Given the description of an element on the screen output the (x, y) to click on. 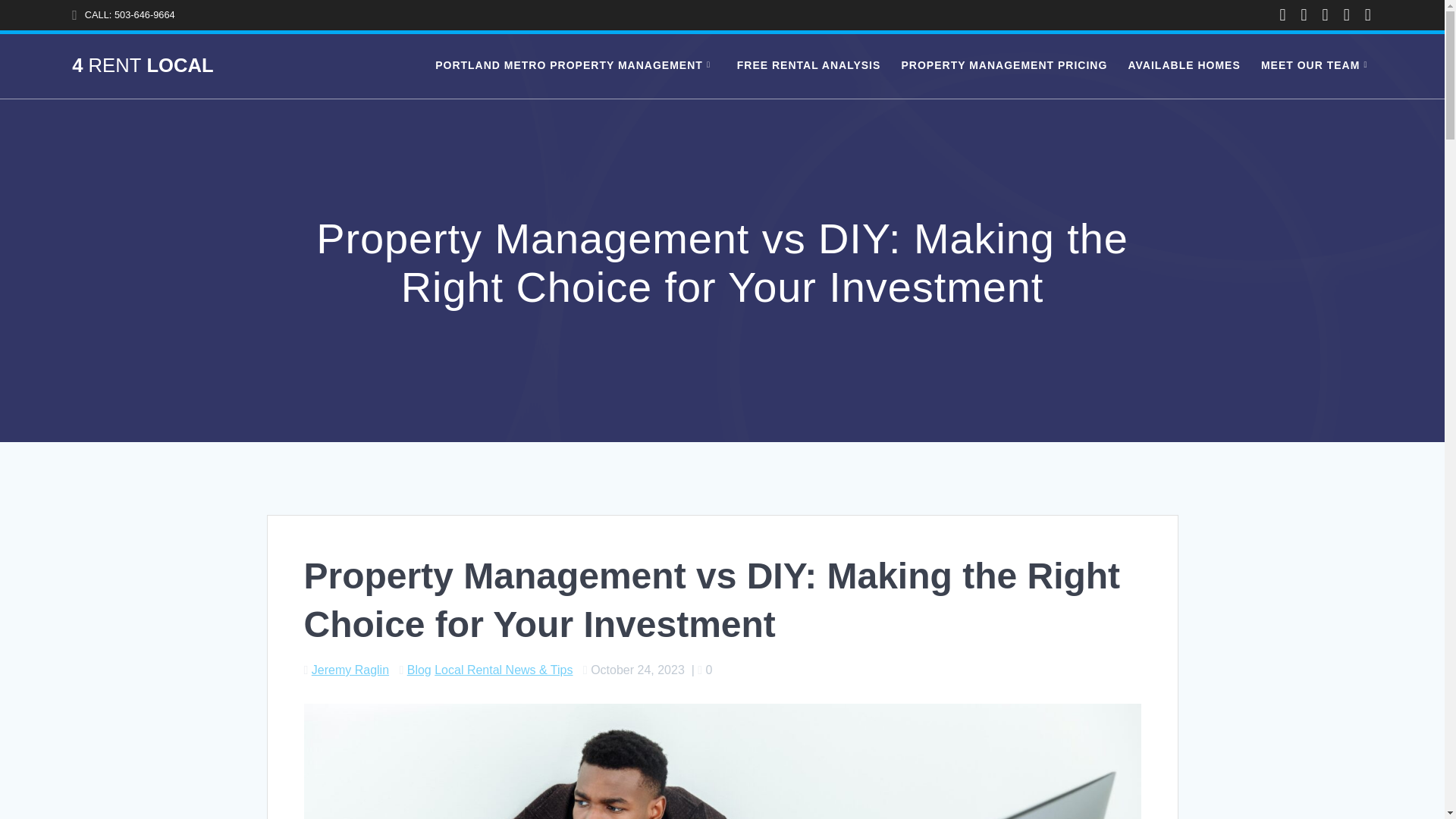
PORTLAND METRO PROPERTY MANAGEMENT (575, 66)
Blog (418, 669)
AVAILABLE HOMES (1183, 66)
4 RENT LOCAL (141, 66)
FREE RENTAL ANALYSIS (808, 66)
Posts by Jeremy Raglin (349, 669)
Jeremy Raglin (349, 669)
PROPERTY MANAGEMENT PRICING (1004, 66)
MEET OUR TEAM (1316, 66)
